Given the description of an element on the screen output the (x, y) to click on. 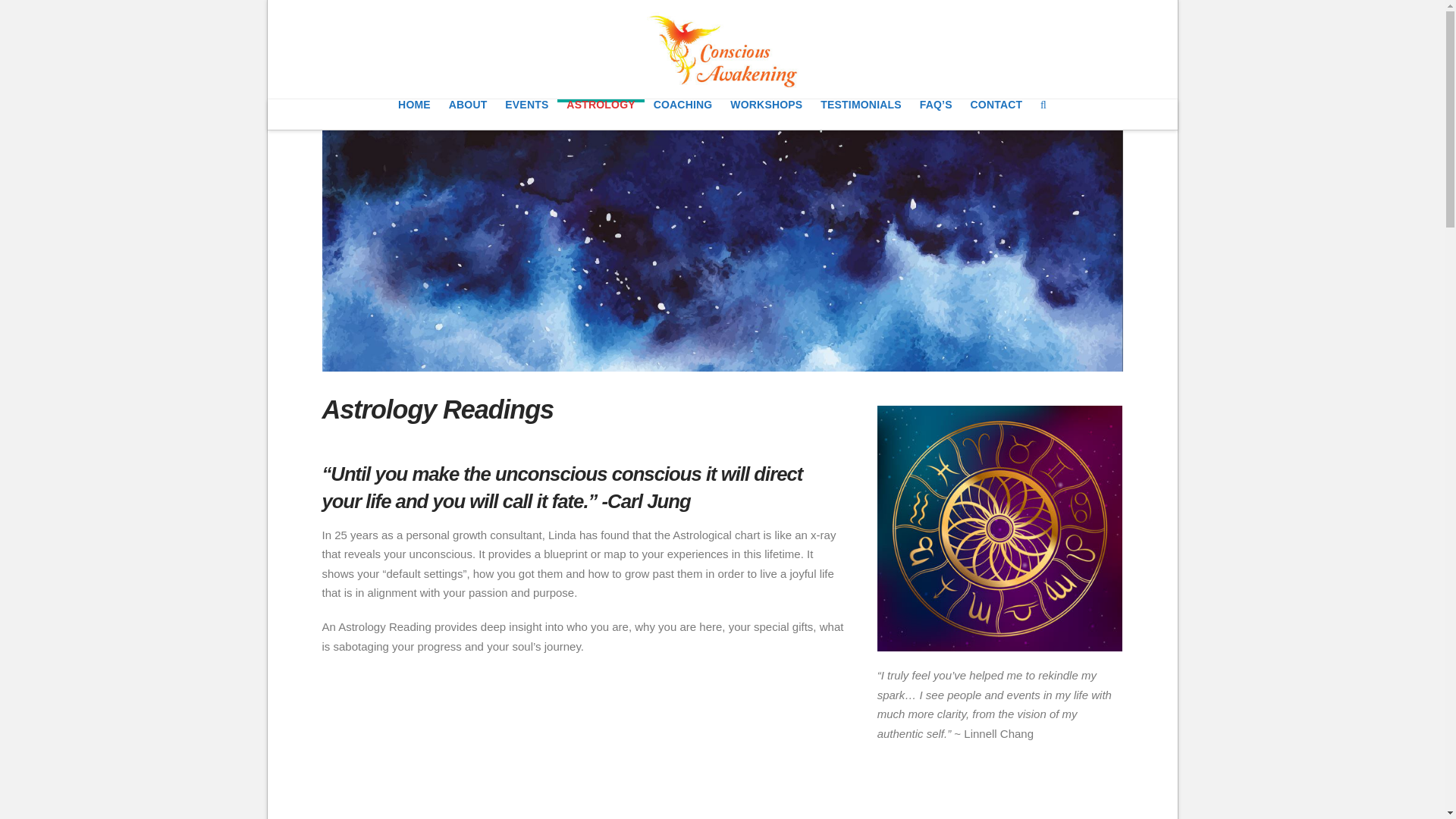
ABOUT (467, 114)
HOME (413, 114)
WORKSHOPS (765, 114)
TESTIMONIALS (860, 114)
COACHING (683, 114)
EVENTS (526, 114)
CONTACT (995, 114)
ASTROLOGY (600, 114)
